Given the description of an element on the screen output the (x, y) to click on. 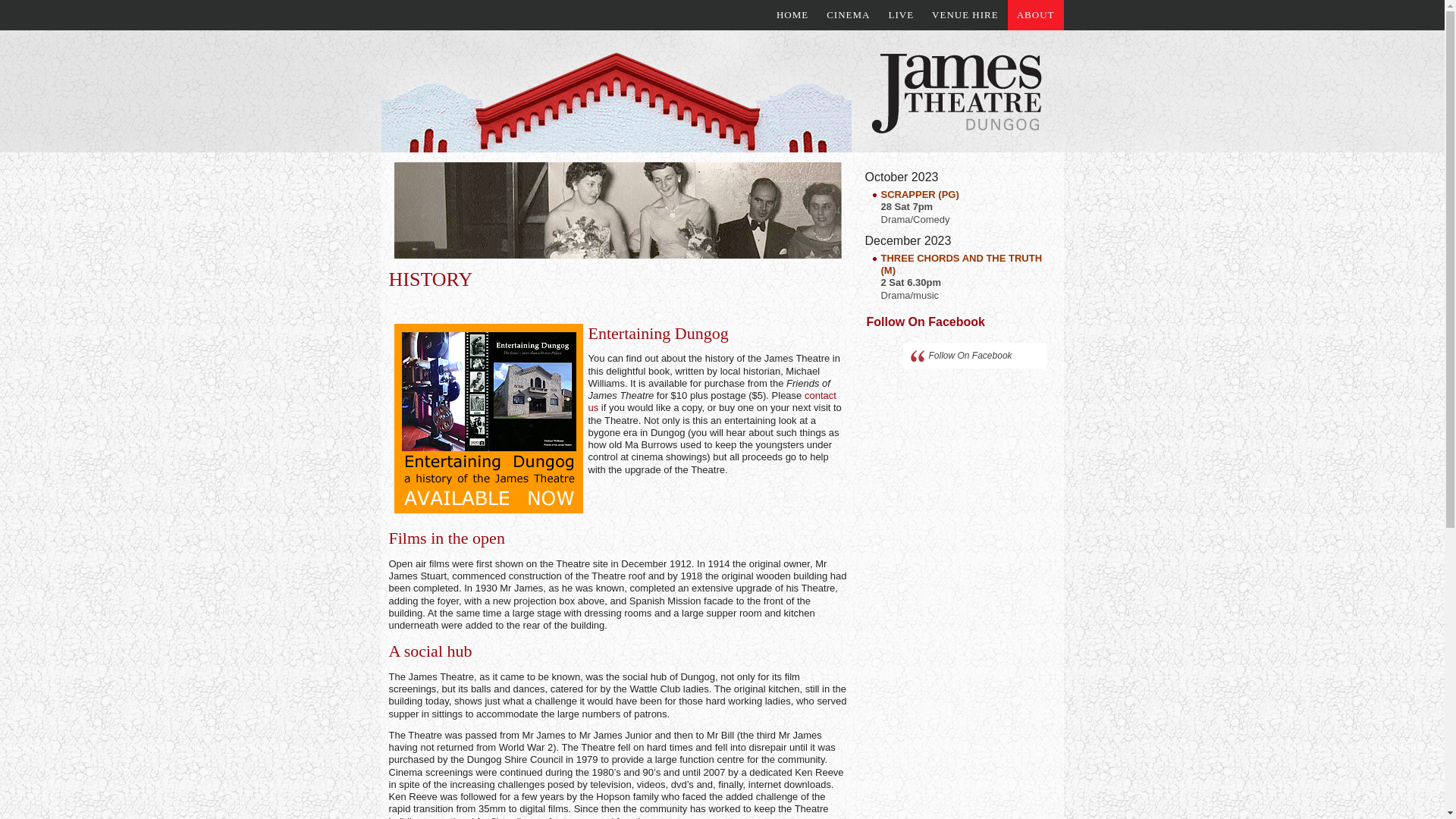
Follow On Facebook Element type: text (925, 321)
VENUE HIRE Element type: text (964, 15)
HOME Element type: text (792, 15)
ABOUT Element type: text (1035, 15)
LIVE Element type: text (900, 15)
Follow On Facebook Element type: text (969, 355)
contact us Element type: text (712, 401)
CINEMA Element type: text (847, 15)
